Given the description of an element on the screen output the (x, y) to click on. 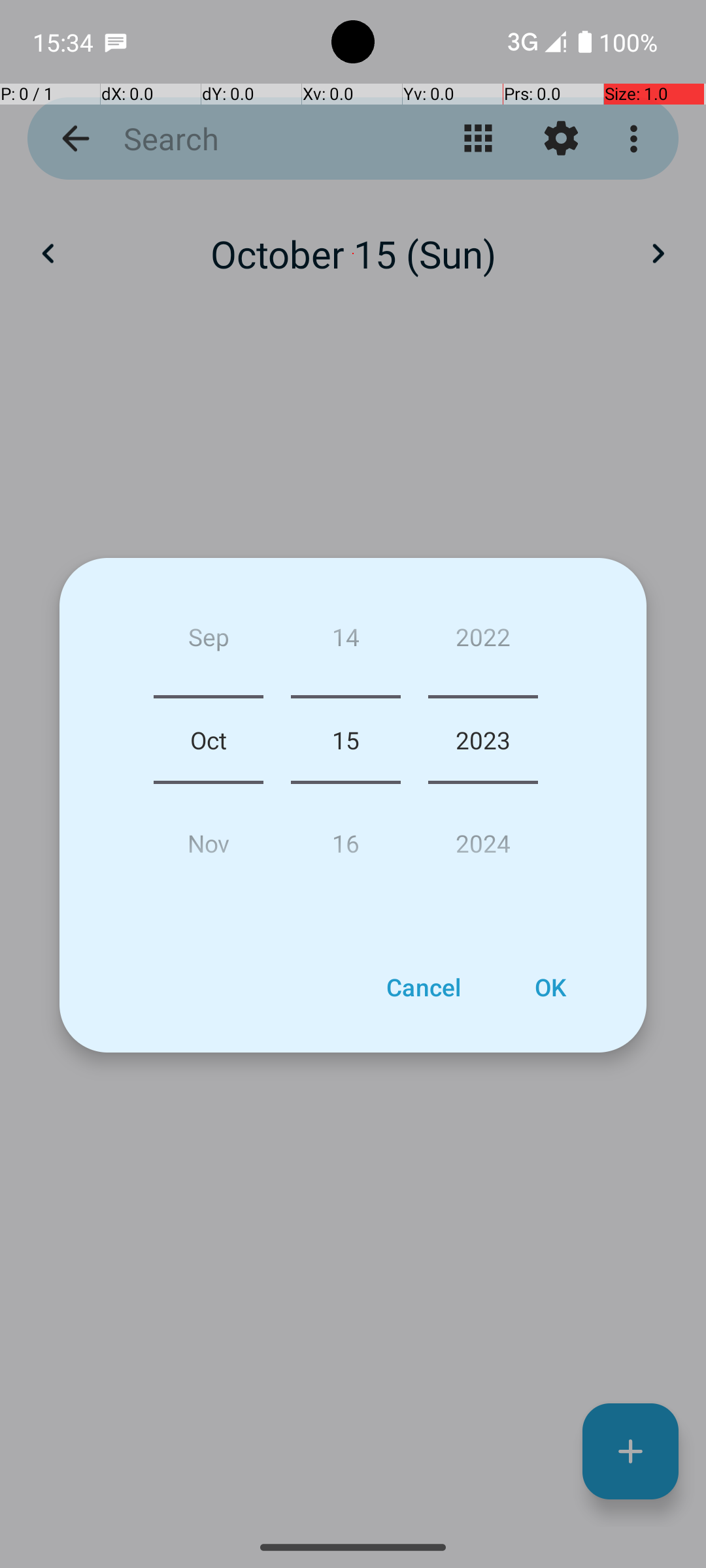
Sep Element type: android.widget.Button (208, 641)
Oct Element type: android.widget.EditText (208, 739)
Nov Element type: android.widget.Button (208, 837)
2022 Element type: android.widget.Button (482, 641)
2024 Element type: android.widget.Button (482, 837)
